Given the description of an element on the screen output the (x, y) to click on. 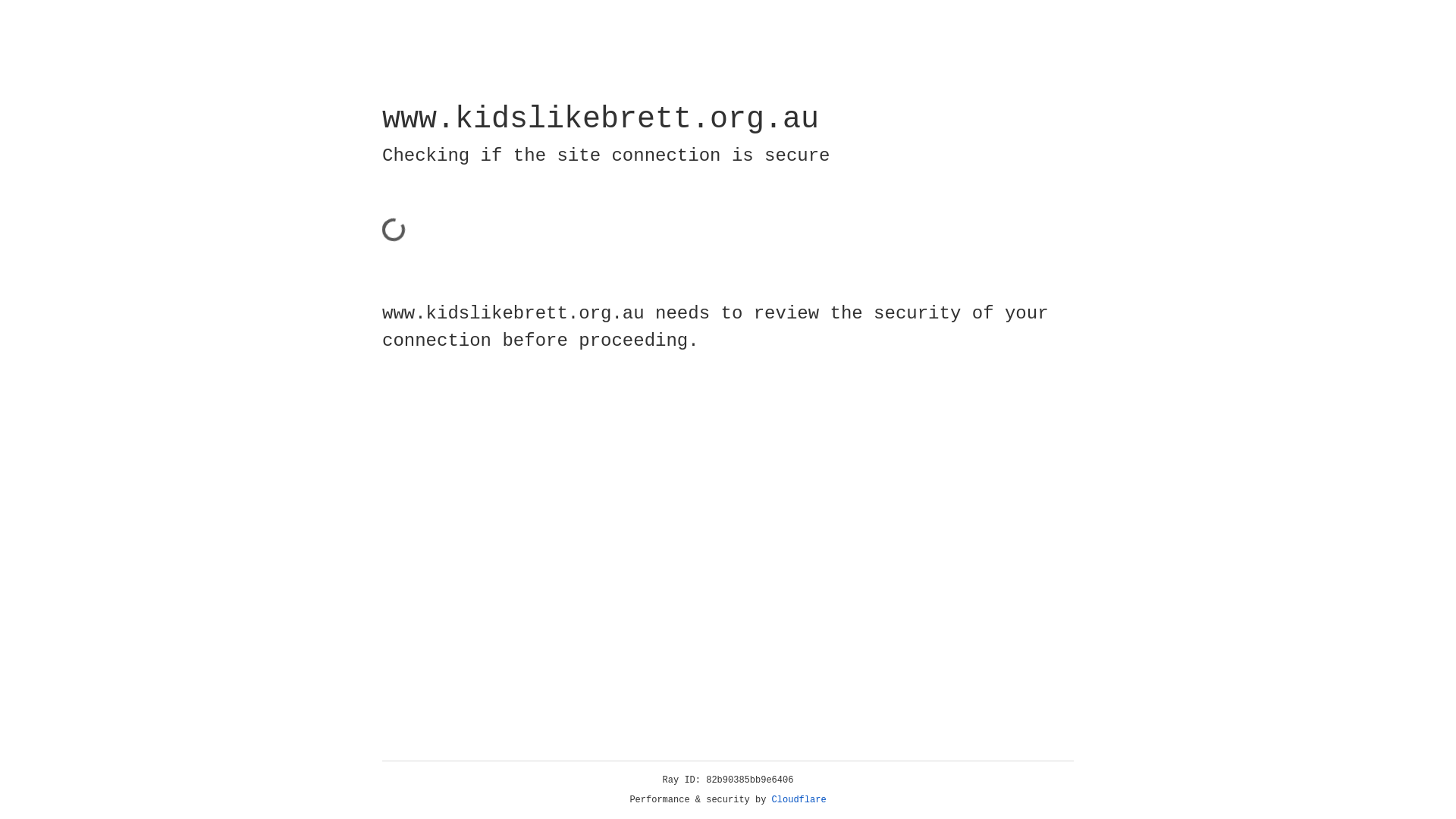
Cloudflare Element type: text (798, 799)
